Given the description of an element on the screen output the (x, y) to click on. 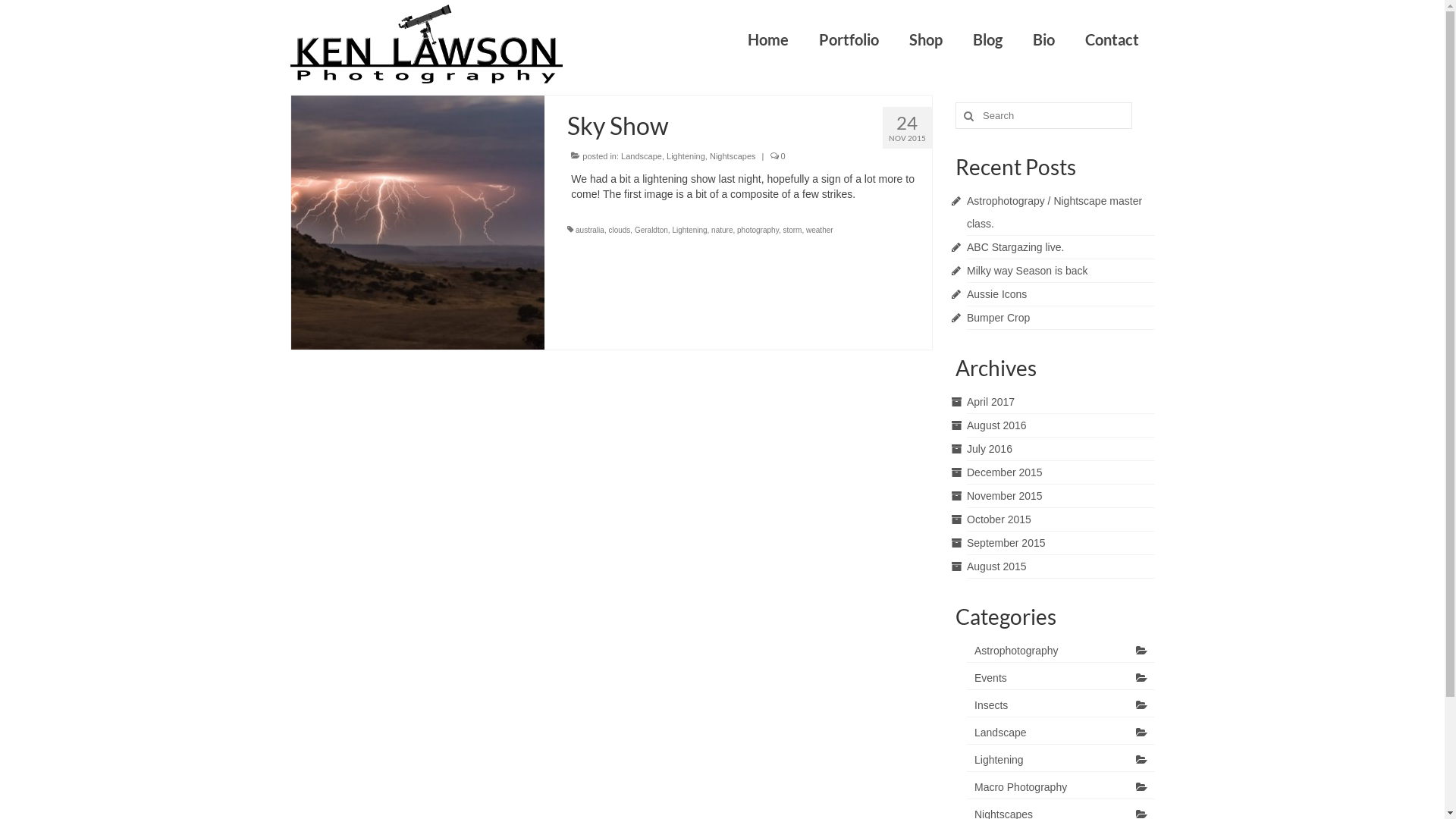
Landscape Element type: text (1060, 732)
Bio Element type: text (1043, 39)
Milky way Season is back Element type: text (1027, 270)
April 2017 Element type: text (990, 401)
australia Element type: text (589, 229)
clouds Element type: text (619, 229)
Events Element type: text (1060, 678)
Home Element type: text (767, 39)
weather Element type: text (819, 229)
October 2015 Element type: text (998, 519)
photography Element type: text (757, 229)
Astrophotograpy / Nightscape master class. Element type: text (1054, 211)
December 2015 Element type: text (1004, 472)
Geraldton Element type: text (651, 229)
Lightening Element type: text (688, 229)
Nightscapes Element type: text (732, 155)
November 2015 Element type: text (1004, 495)
September 2015 Element type: text (1005, 542)
Contact Element type: text (1112, 39)
July 2016 Element type: text (989, 448)
Aussie Icons Element type: text (996, 294)
ABC Stargazing live. Element type: text (1014, 247)
Bumper Crop Element type: text (997, 317)
August 2016 Element type: text (996, 425)
nature Element type: text (721, 229)
storm Element type: text (791, 229)
Insects Element type: text (1060, 705)
Sky Show Element type: text (749, 125)
Lightening Element type: text (685, 155)
Astrophotography Element type: text (1060, 650)
Macro Photography Element type: text (1060, 787)
Blog Element type: text (987, 39)
Shop Element type: text (925, 39)
August 2015 Element type: text (996, 566)
Lightening Element type: text (1060, 759)
Sky Show Element type: hover (418, 221)
Portfolio Element type: text (848, 39)
Landscape Element type: text (641, 155)
